Given the description of an element on the screen output the (x, y) to click on. 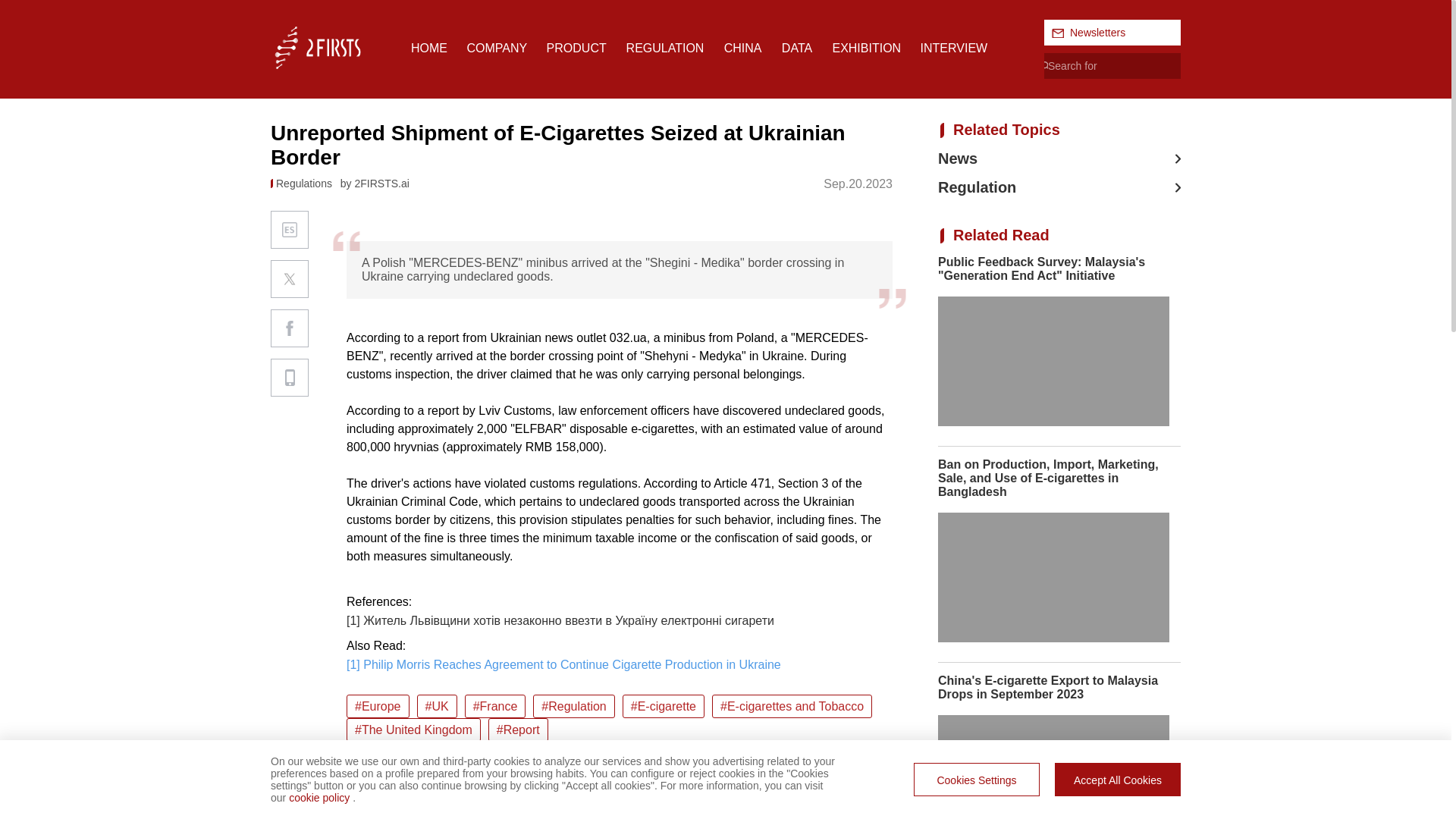
EXHIBITION (866, 48)
PRODUCT (577, 48)
News (1058, 158)
INTERVIEW (954, 48)
COMPANY (496, 48)
CHINA (742, 48)
REGULATION (665, 48)
Regulation (1058, 187)
HOME (428, 48)
